Given the description of an element on the screen output the (x, y) to click on. 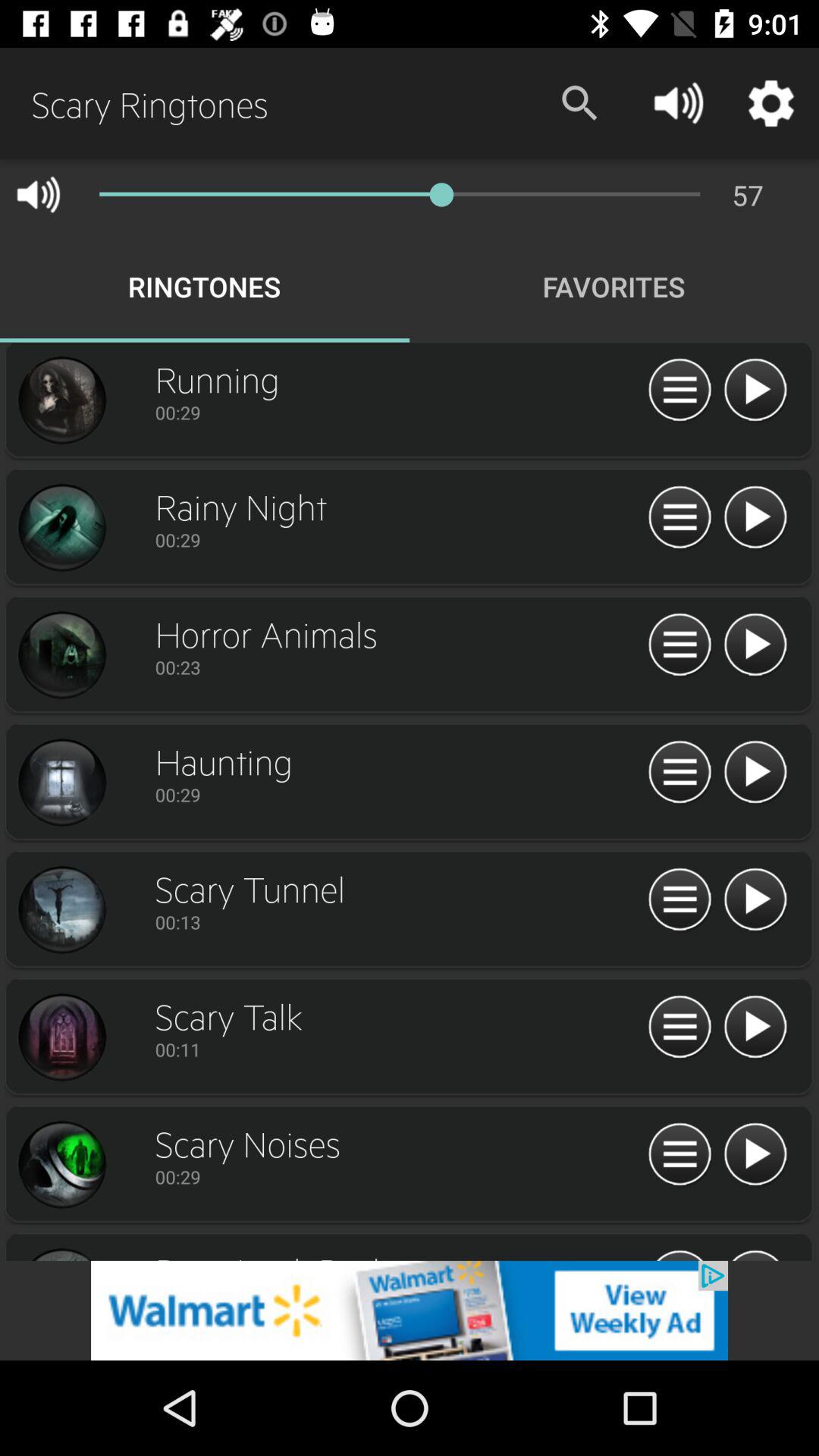
play this audio (755, 900)
